Given the description of an element on the screen output the (x, y) to click on. 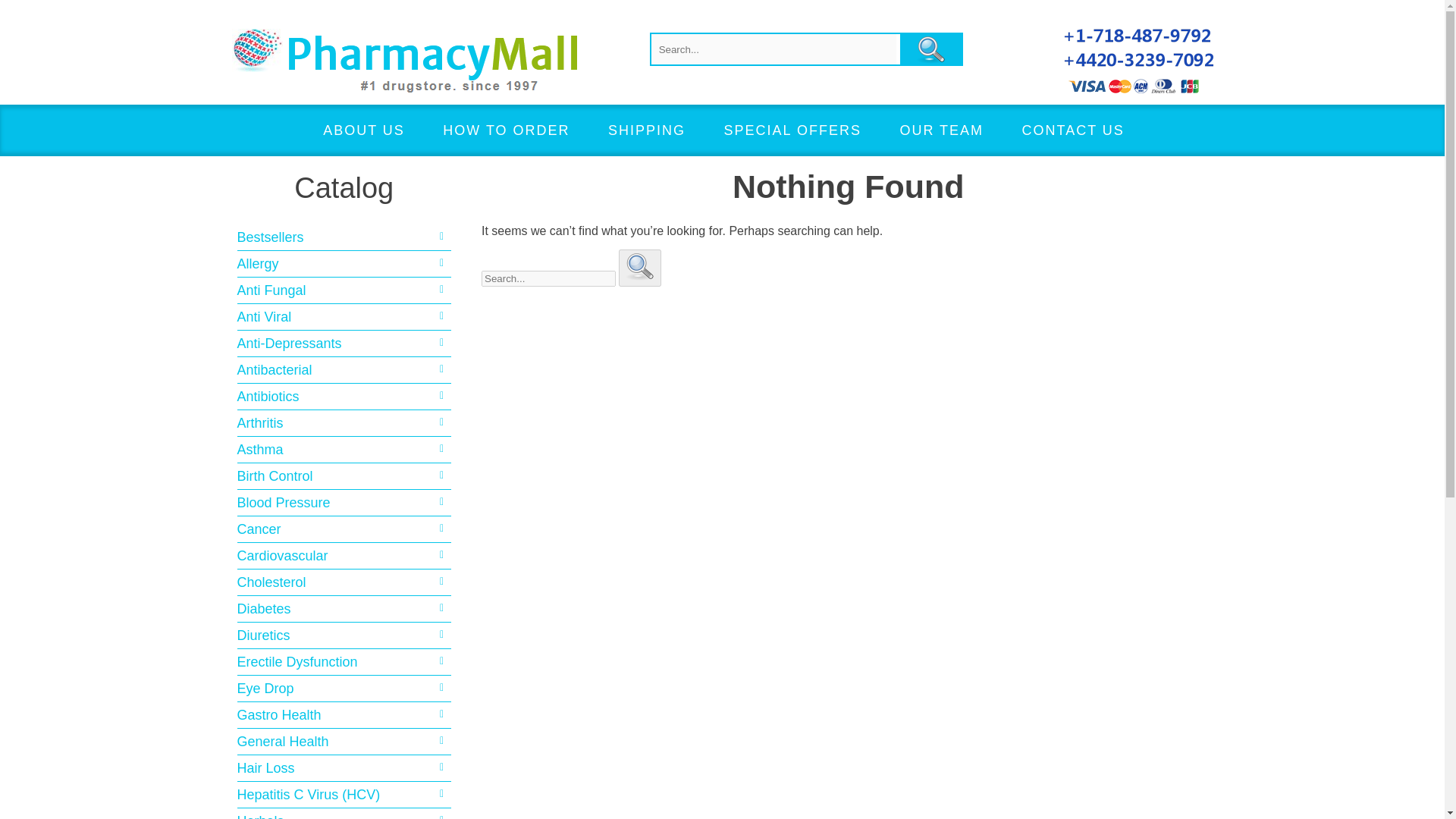
Bestsellers (343, 237)
Gastro Health (343, 714)
ABOUT US (363, 130)
Allergy (343, 263)
Antibacterial (343, 370)
Asthma (343, 449)
HOW TO ORDER (505, 130)
Diabetes (343, 608)
Cardiovascular (343, 556)
Anti Viral (343, 316)
